Given the description of an element on the screen output the (x, y) to click on. 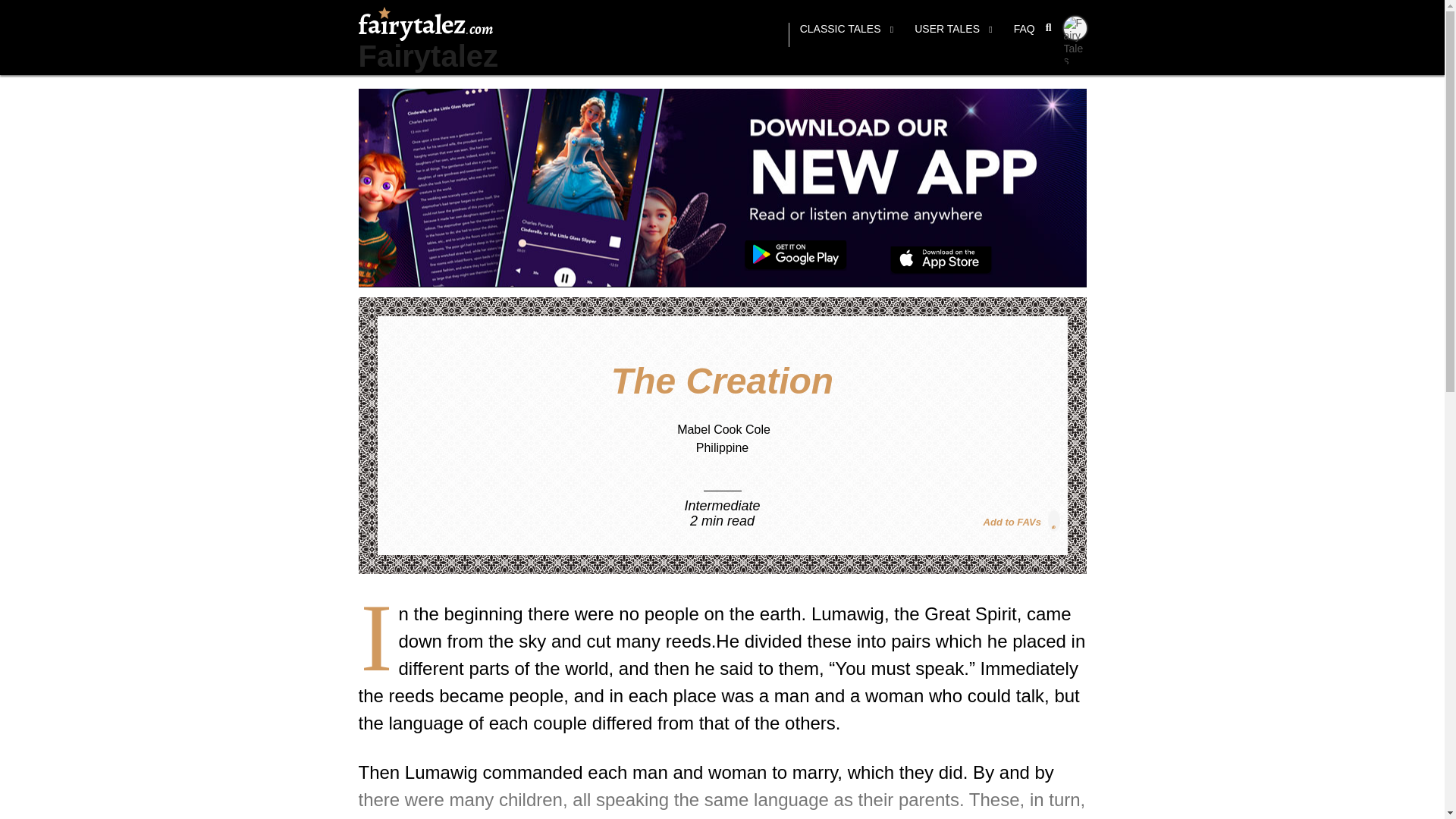
Philippine (721, 447)
View all items in Mabel Cook Cole (723, 429)
Add to FAVs (1021, 520)
Mabel Cook Cole (723, 429)
Fairytalez audio book ios app (940, 260)
FAQ (1024, 34)
Fairytalez (427, 55)
Fairytalez audio book android app (795, 255)
USER TALES (953, 34)
CLASSIC TALES (846, 34)
